Given the description of an element on the screen output the (x, y) to click on. 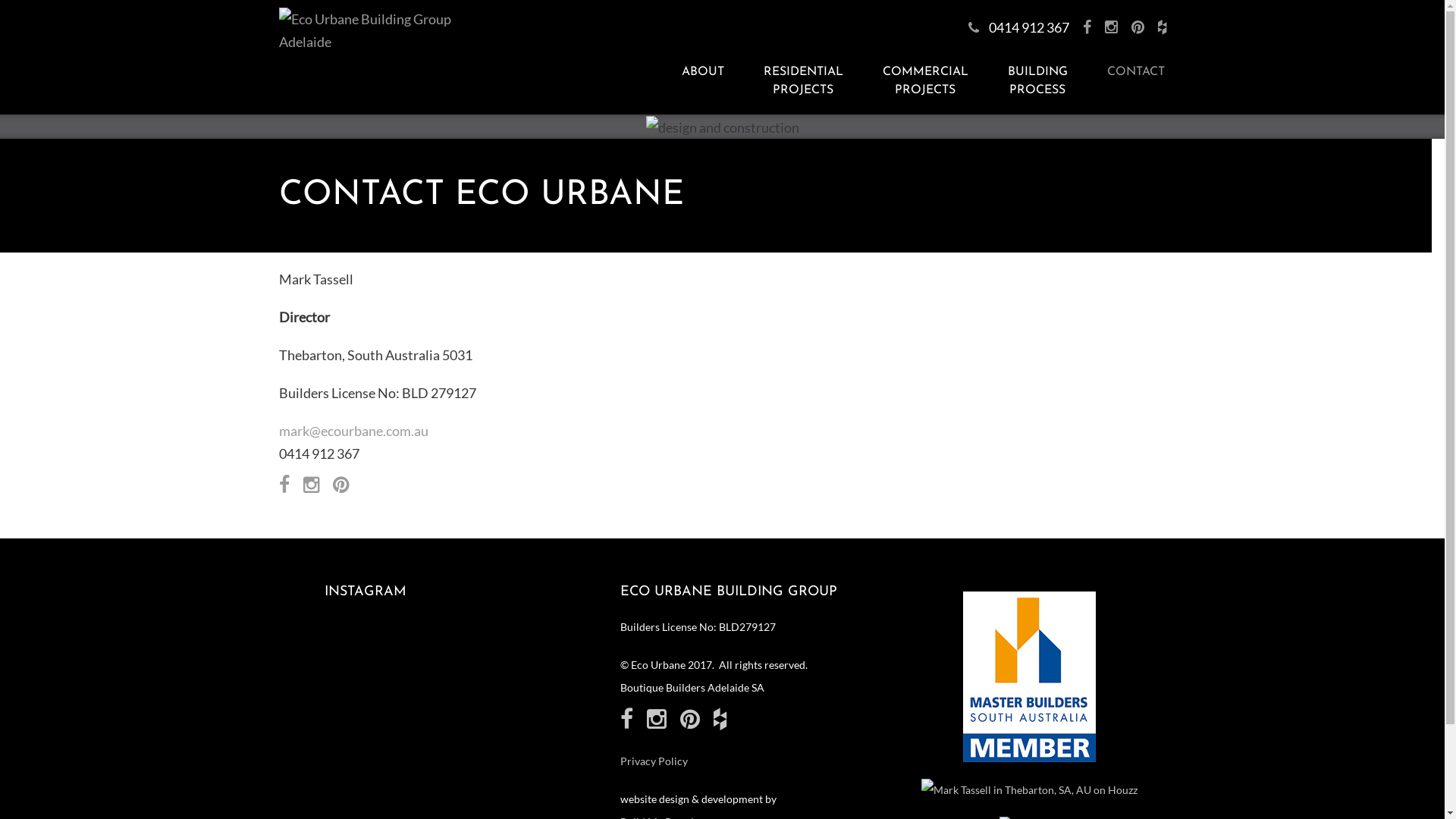
facebook Element type: hover (284, 483)
instagram Element type: hover (655, 717)
RESIDENTIAL PROJECTS Element type: text (803, 80)
instagram Element type: hover (1110, 26)
instagram Element type: hover (311, 483)
Privacy Policy Element type: text (653, 760)
houzz Element type: hover (718, 717)
ABOUT Element type: text (702, 71)
COMMERCIAL PROJECTS Element type: text (924, 80)
houzz Element type: hover (1161, 26)
pinterest Element type: hover (1137, 26)
pinterest Element type: hover (689, 717)
BUILDING PROCESS Element type: text (1037, 80)
CONTACT Element type: text (1125, 71)
facebook Element type: hover (1086, 26)
facebook Element type: hover (626, 717)
pinterest Element type: hover (340, 483)
mark@ecourbane.com.au Element type: text (353, 430)
